Given the description of an element on the screen output the (x, y) to click on. 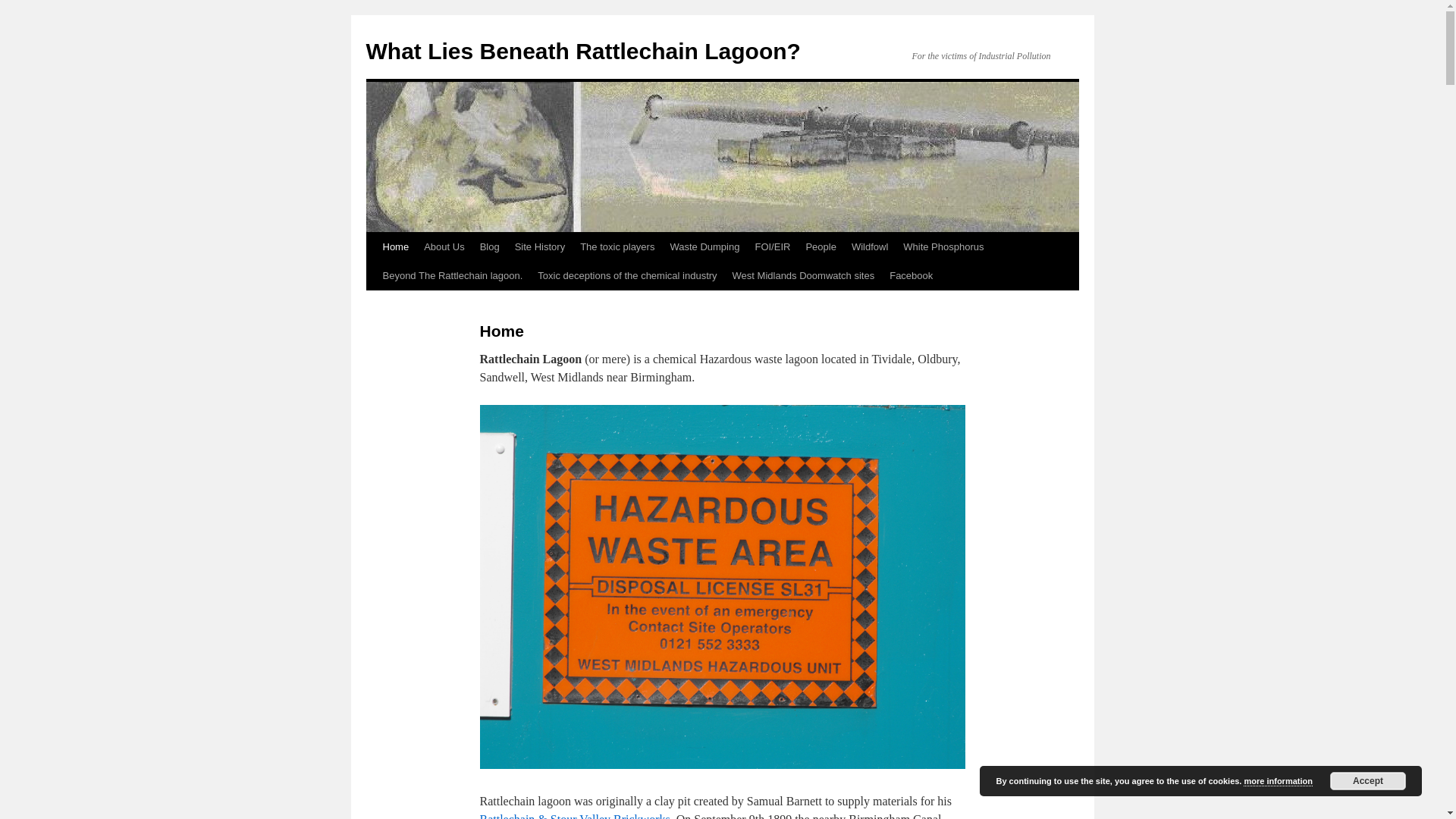
What Lies Beneath Rattlechain Lagoon? (582, 50)
What Lies Beneath Rattlechain Lagoon? (582, 50)
The toxic players (617, 246)
Home (395, 246)
Blog (488, 246)
About Us (443, 246)
Site History (539, 246)
